Given the description of an element on the screen output the (x, y) to click on. 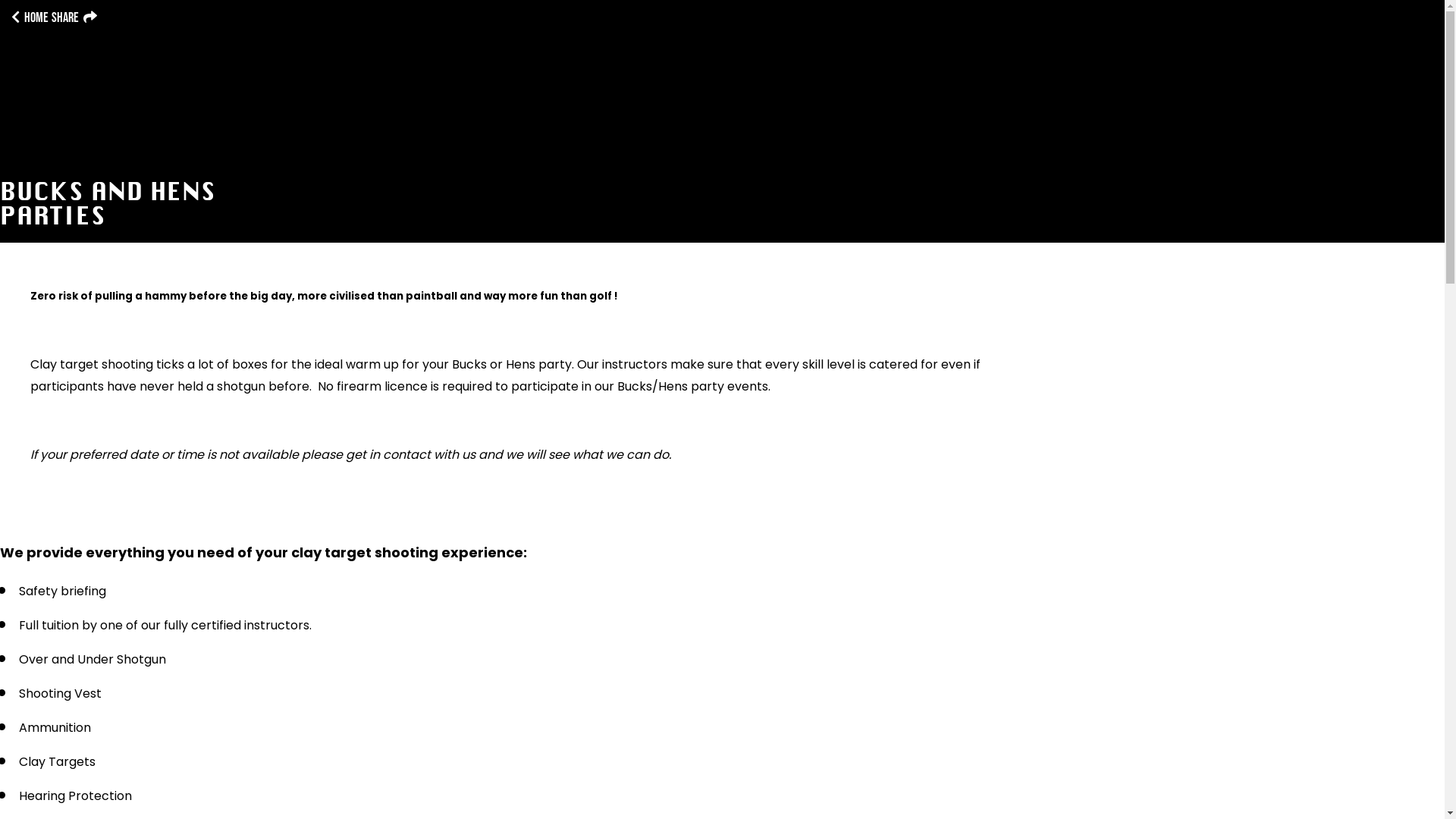
  Home Element type: text (29, 17)
Share   Element type: text (74, 17)
